Given the description of an element on the screen output the (x, y) to click on. 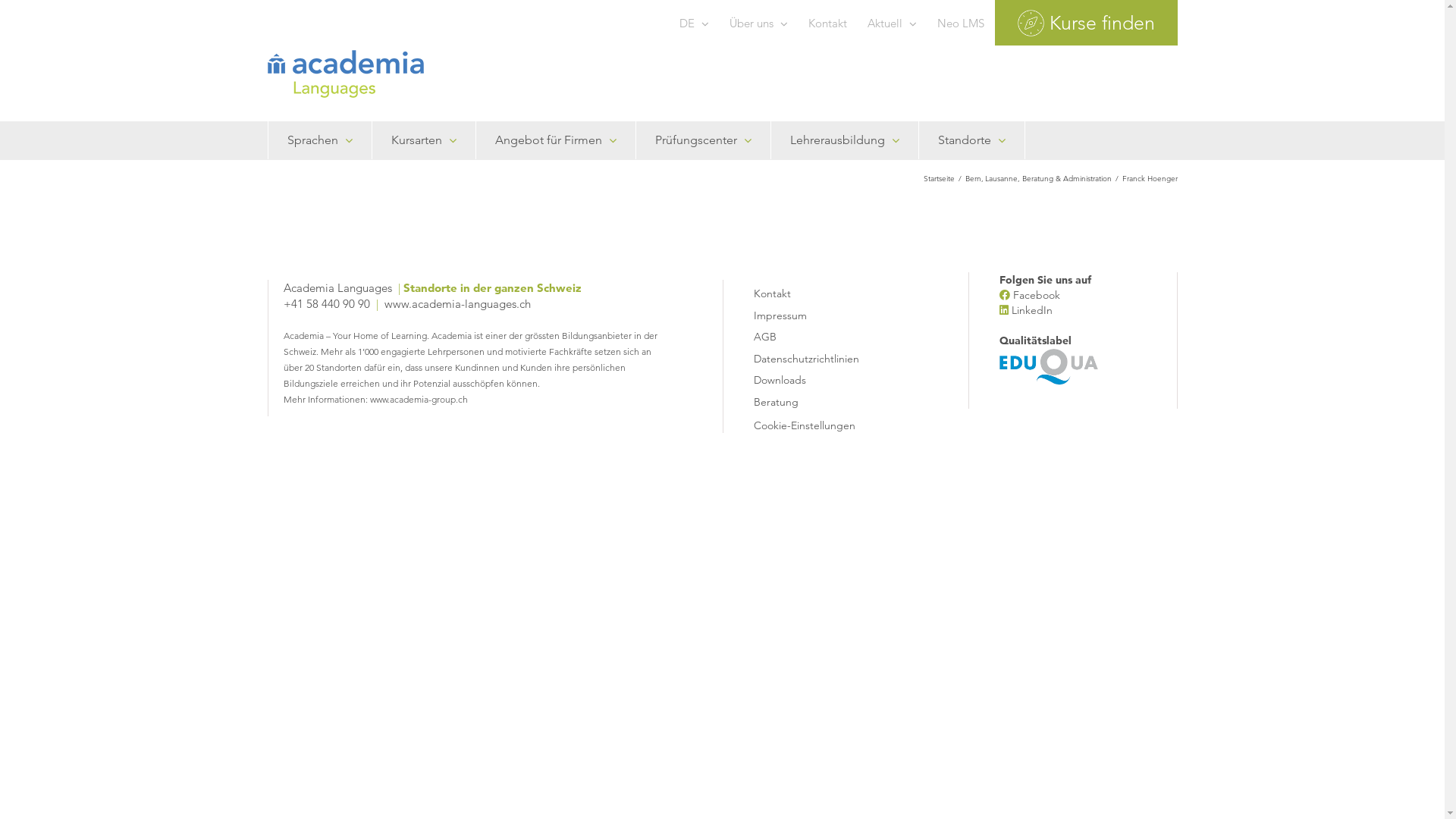
Aktuell Element type: text (890, 22)
AGB Element type: text (827, 334)
Lausanne Element type: text (1001, 177)
Kursarten Element type: text (423, 140)
Kurse finden Element type: text (1085, 22)
Impressum Element type: text (827, 313)
Standorte in der ganzen Schweiz Element type: text (492, 287)
DE Element type: text (693, 22)
Beratung Element type: text (827, 400)
Standorte Element type: text (970, 140)
Datenschutzrichtlinien Element type: text (827, 356)
Facebook Element type: text (1036, 294)
Sprachen Element type: text (318, 140)
Startseite Element type: text (938, 177)
LinkedIn Element type: text (1031, 309)
www.academia-languages.ch Element type: text (456, 303)
Bern Element type: text (972, 177)
Cookie-Einstellungen Element type: text (804, 425)
Lehrerausbildung Element type: text (844, 140)
www.academia-group.ch Element type: text (418, 398)
Kontakt Element type: text (827, 291)
Kontakt Element type: text (826, 22)
Neo LMS Element type: text (959, 22)
Beratung & Administration Element type: text (1066, 177)
Downloads Element type: text (827, 378)
